Given the description of an element on the screen output the (x, y) to click on. 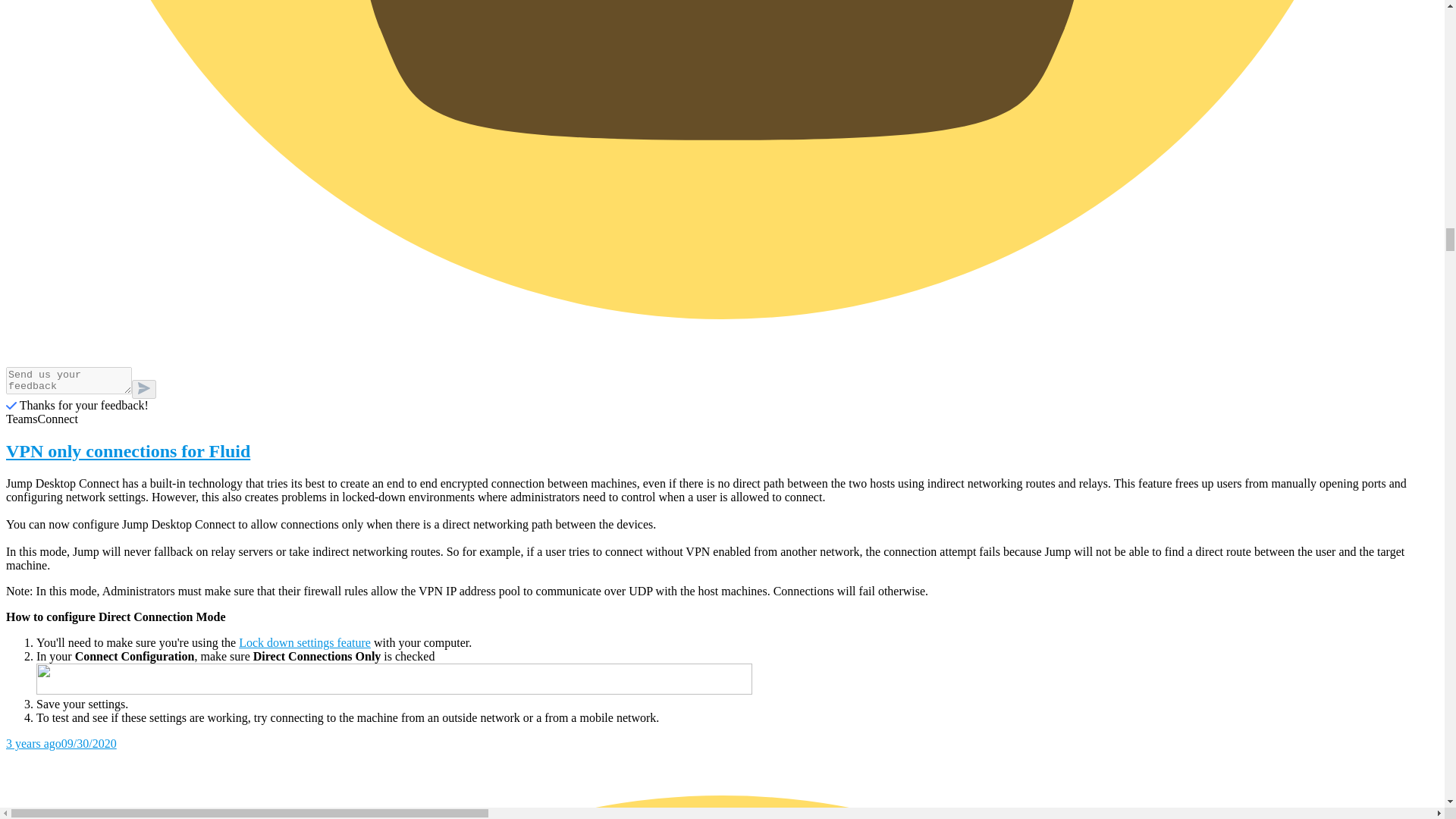
Submit Button (143, 389)
Lock down settings feature (304, 642)
VPN only connections for Fluid (721, 451)
